Given the description of an element on the screen output the (x, y) to click on. 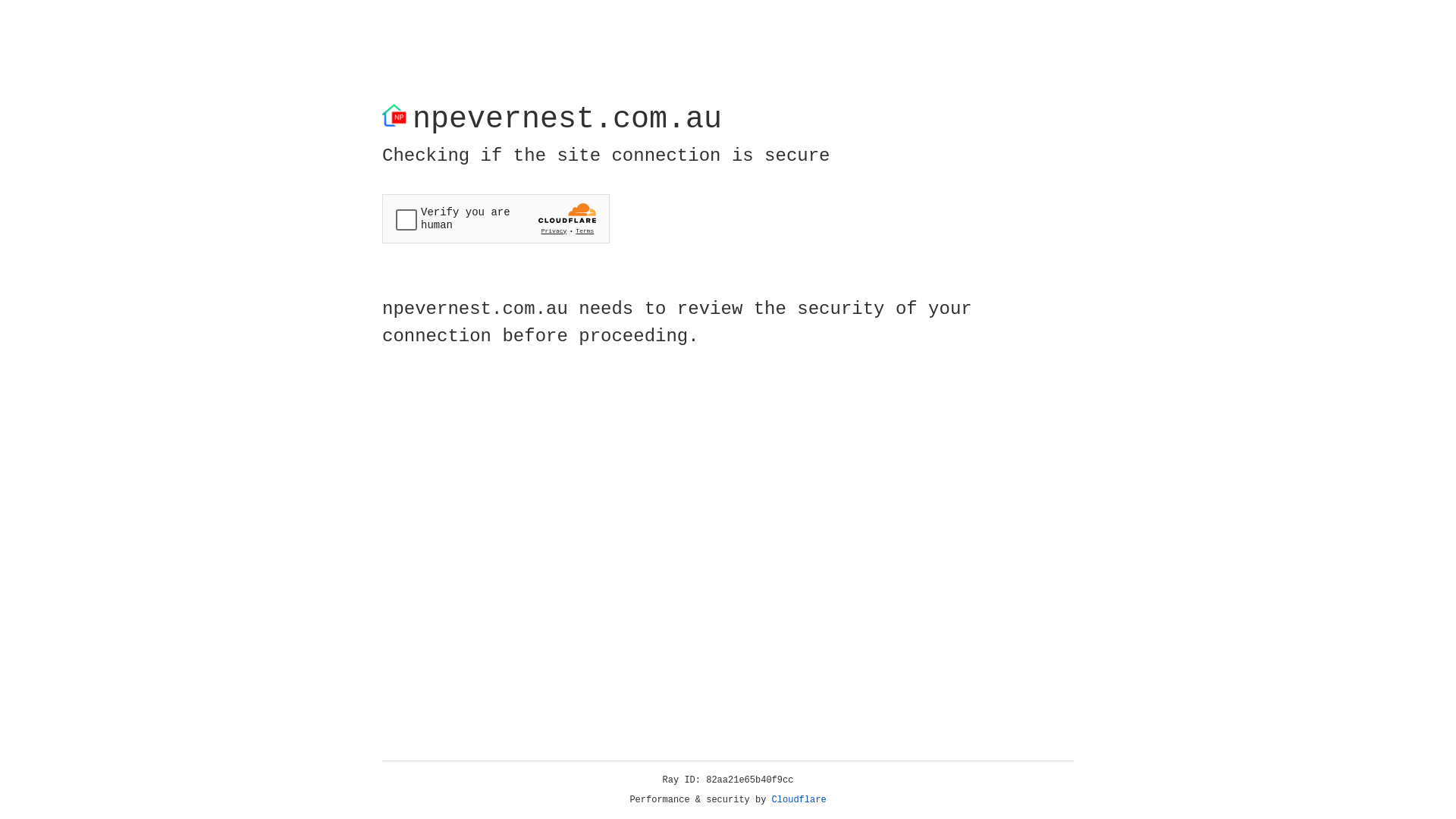
Widget containing a Cloudflare security challenge Element type: hover (495, 218)
Cloudflare Element type: text (798, 799)
